Given the description of an element on the screen output the (x, y) to click on. 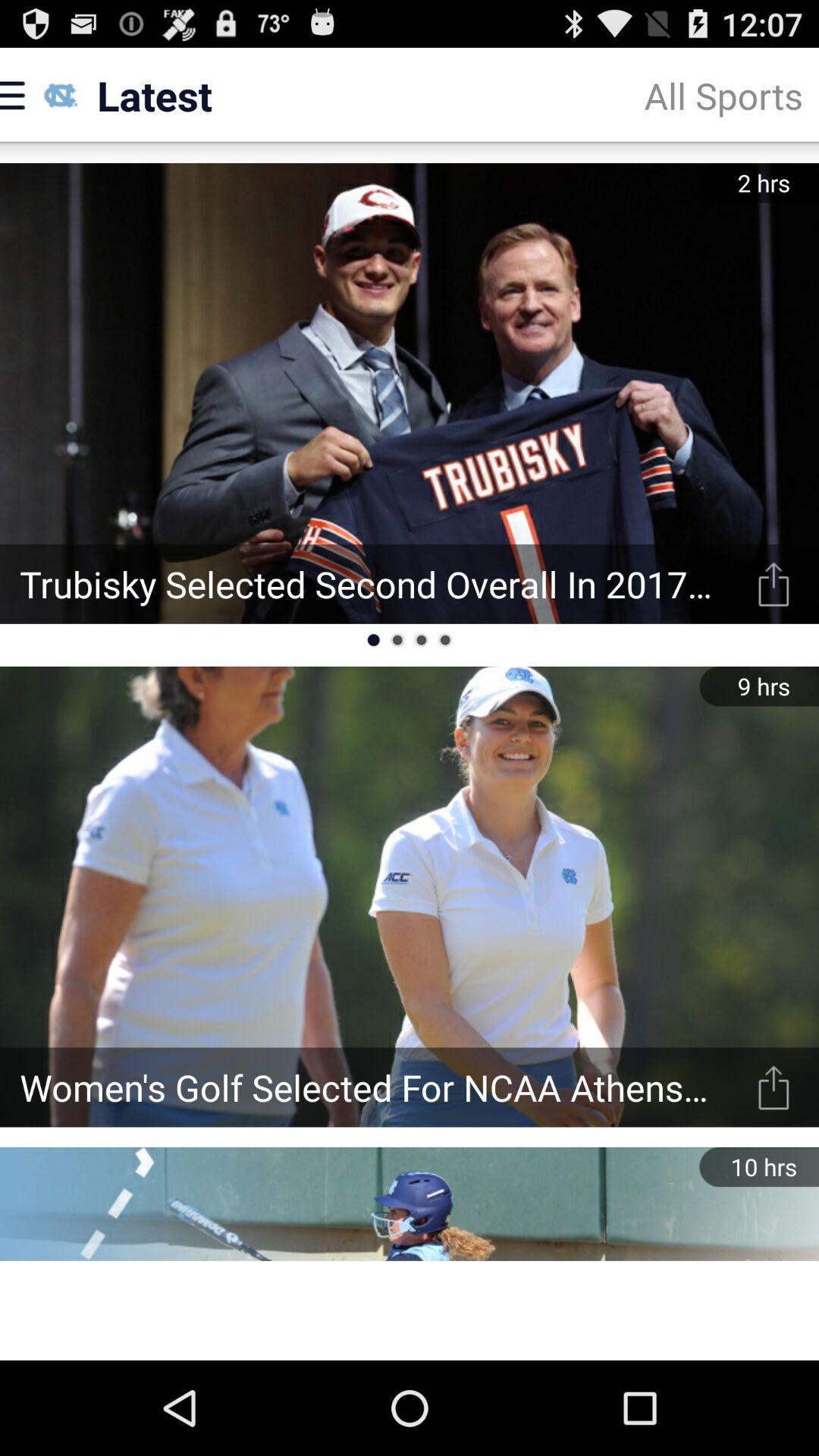
read story (773, 583)
